Given the description of an element on the screen output the (x, y) to click on. 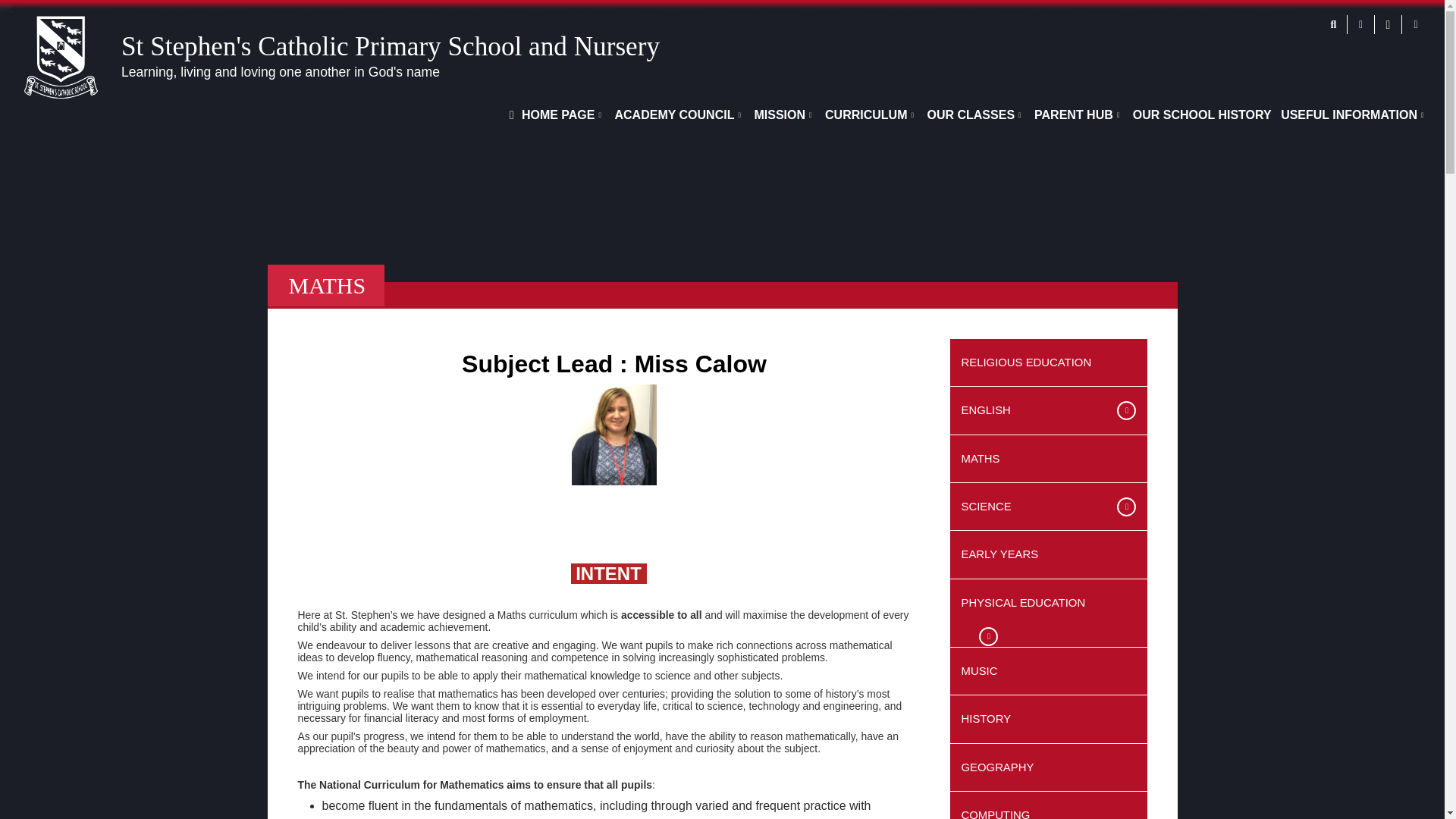
MISSION (780, 114)
Instagram (1415, 24)
ACADEMY COUNCIL (676, 114)
HOME PAGE (554, 114)
CURRICULUM (867, 114)
Facebook (1388, 24)
